Given the description of an element on the screen output the (x, y) to click on. 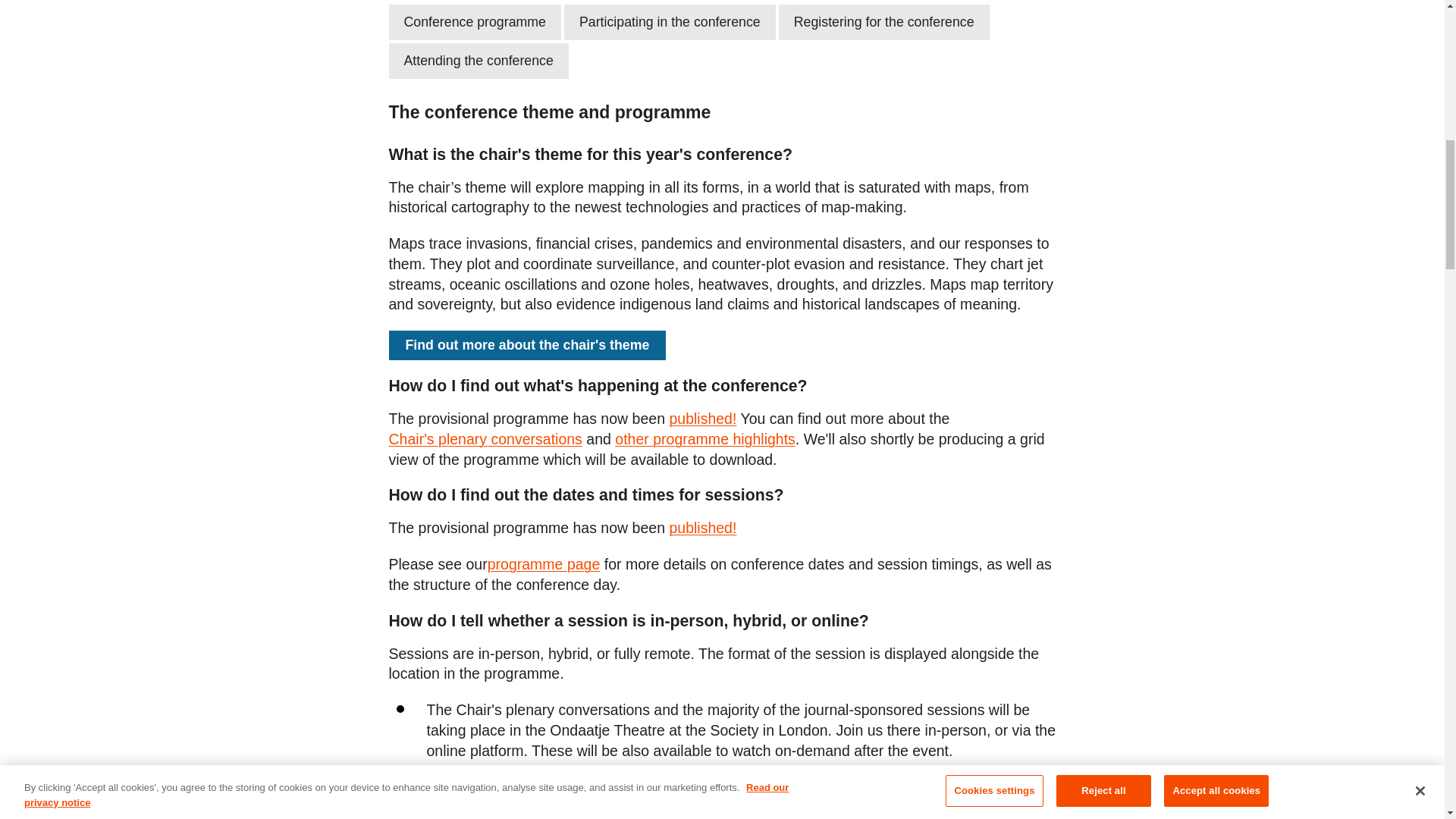
Programme (543, 564)
Programme (702, 527)
Programme (702, 418)
Chair's theme (526, 345)
Programme highlights (704, 439)
Chair's plenary conversations (484, 439)
